Given the description of an element on the screen output the (x, y) to click on. 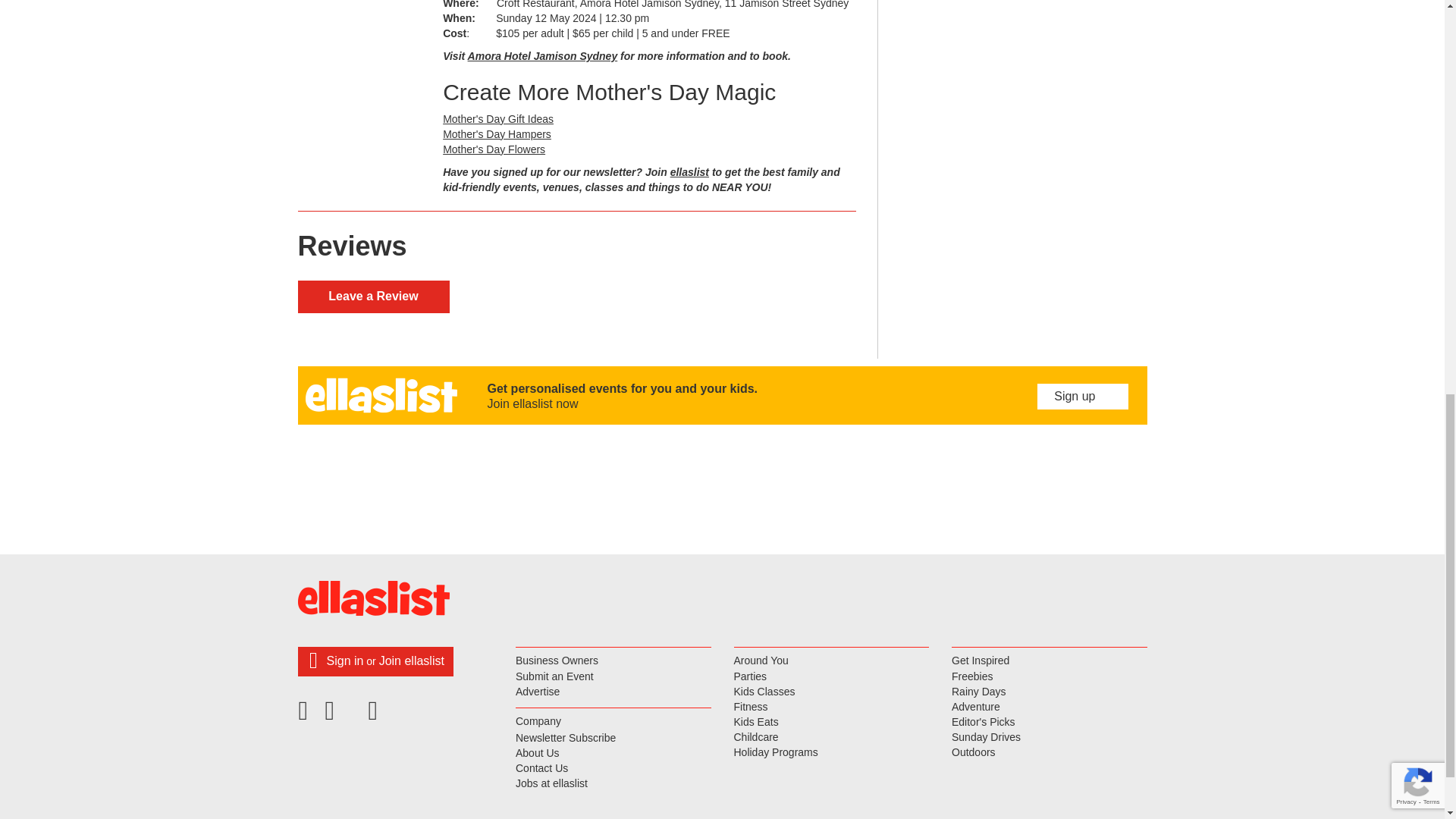
Join ellaslist (411, 660)
Kids Classes (831, 692)
Contact Us (613, 768)
Mother's Day Flowers (493, 149)
About Us (613, 753)
Mother's Day Hampers (496, 133)
Advertise (613, 692)
Submit an Event (613, 676)
ellaslist (689, 172)
Instagram (375, 715)
